Given the description of an element on the screen output the (x, y) to click on. 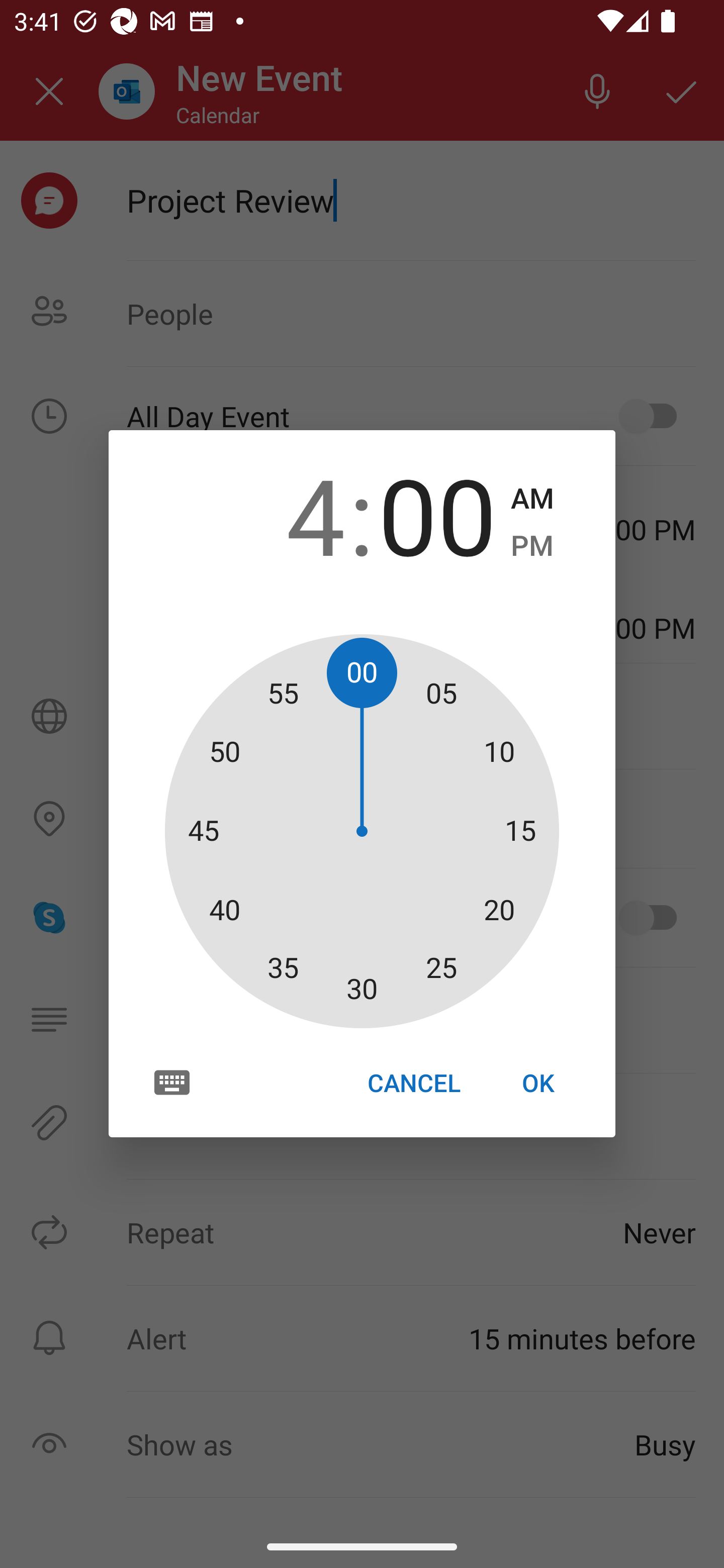
4 (285, 513)
00 (436, 513)
AM (532, 498)
PM (532, 546)
CANCEL (413, 1082)
OK (537, 1082)
Switch to text input mode for the time input. (171, 1081)
